Given the description of an element on the screen output the (x, y) to click on. 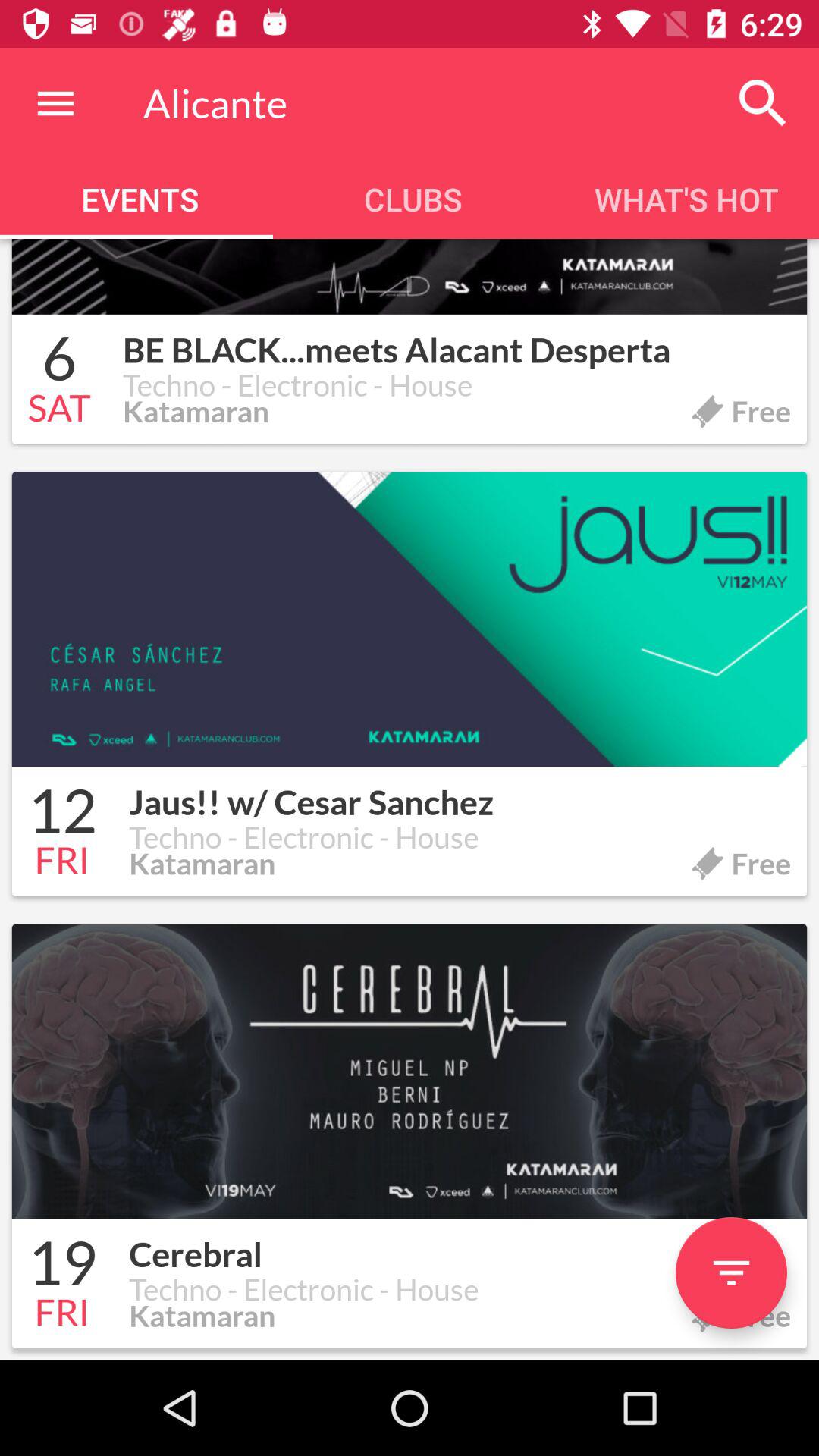
open 6 icon (59, 360)
